Given the description of an element on the screen output the (x, y) to click on. 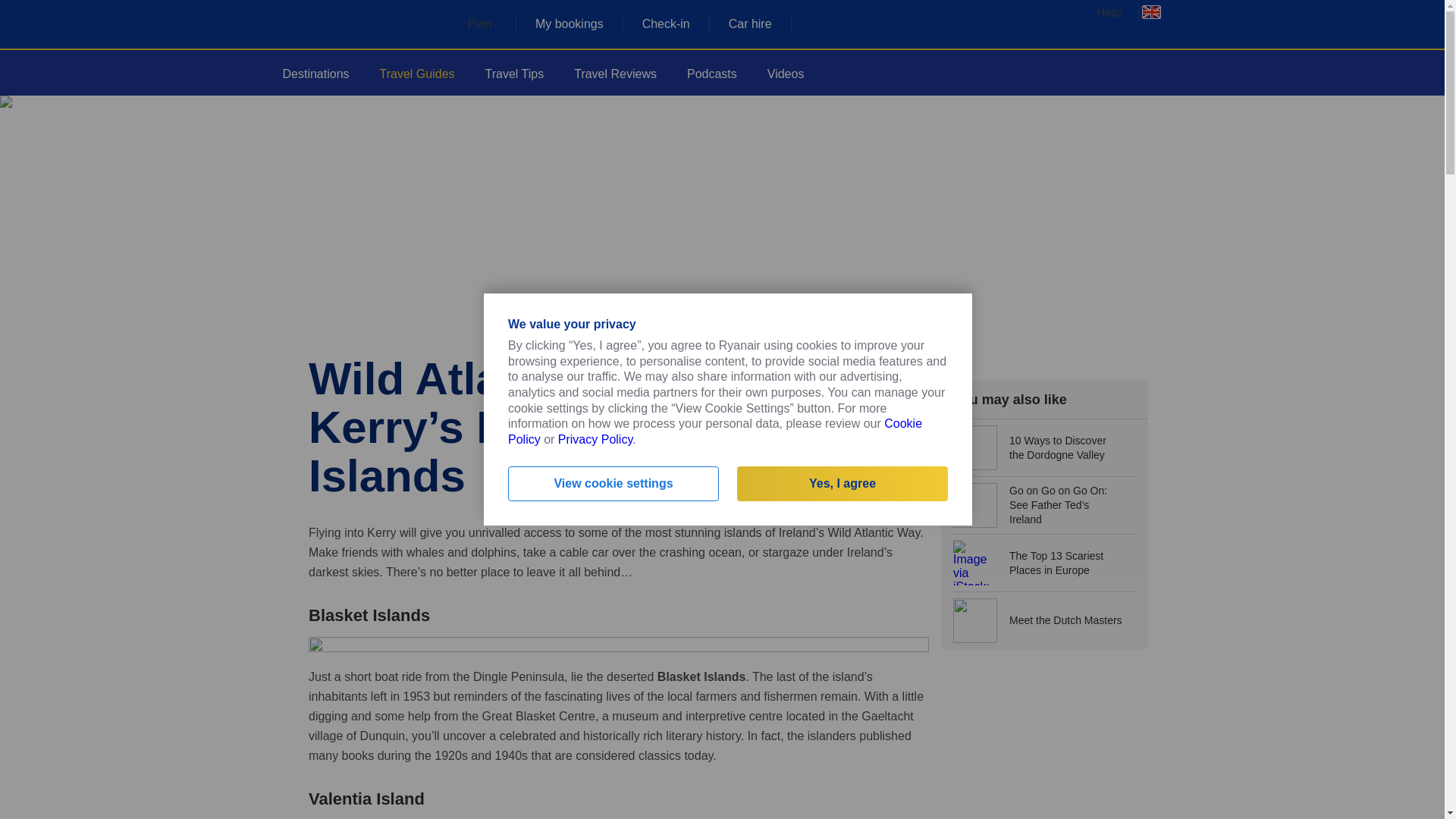
The Top 13 Scariest Places in Europe (1044, 563)
Destinations (315, 73)
My bookings (569, 24)
Travel Tips (515, 73)
Car hire (750, 24)
Travel Guides (416, 73)
Podcasts (711, 73)
Check-in (665, 24)
Videos (785, 73)
10 Ways to Discover the Dordogne Valley (1044, 447)
Plan (491, 23)
Meet the Dutch Masters (1044, 620)
Travel Reviews (615, 73)
Help (1116, 11)
